Given the description of an element on the screen output the (x, y) to click on. 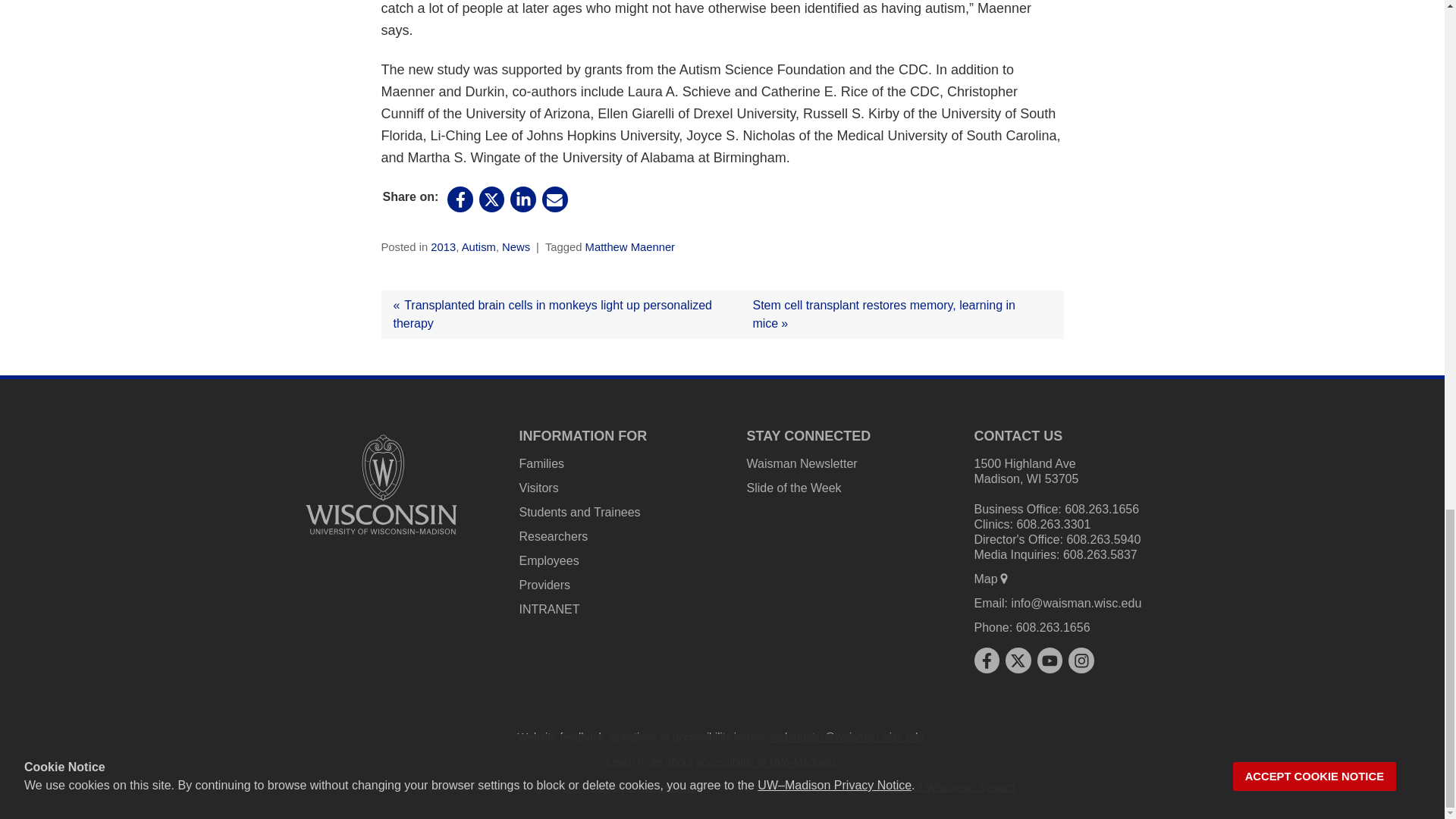
Share on Facebook (986, 660)
University logo that links to main university website (380, 484)
Share on Facebook (460, 199)
Share on LinkedIn (523, 199)
map marker (1003, 578)
youtube (1049, 660)
instagram (1081, 660)
Share on X Twitter (1018, 660)
Share on X Twitter (491, 199)
Share on Email (554, 199)
